Given the description of an element on the screen output the (x, y) to click on. 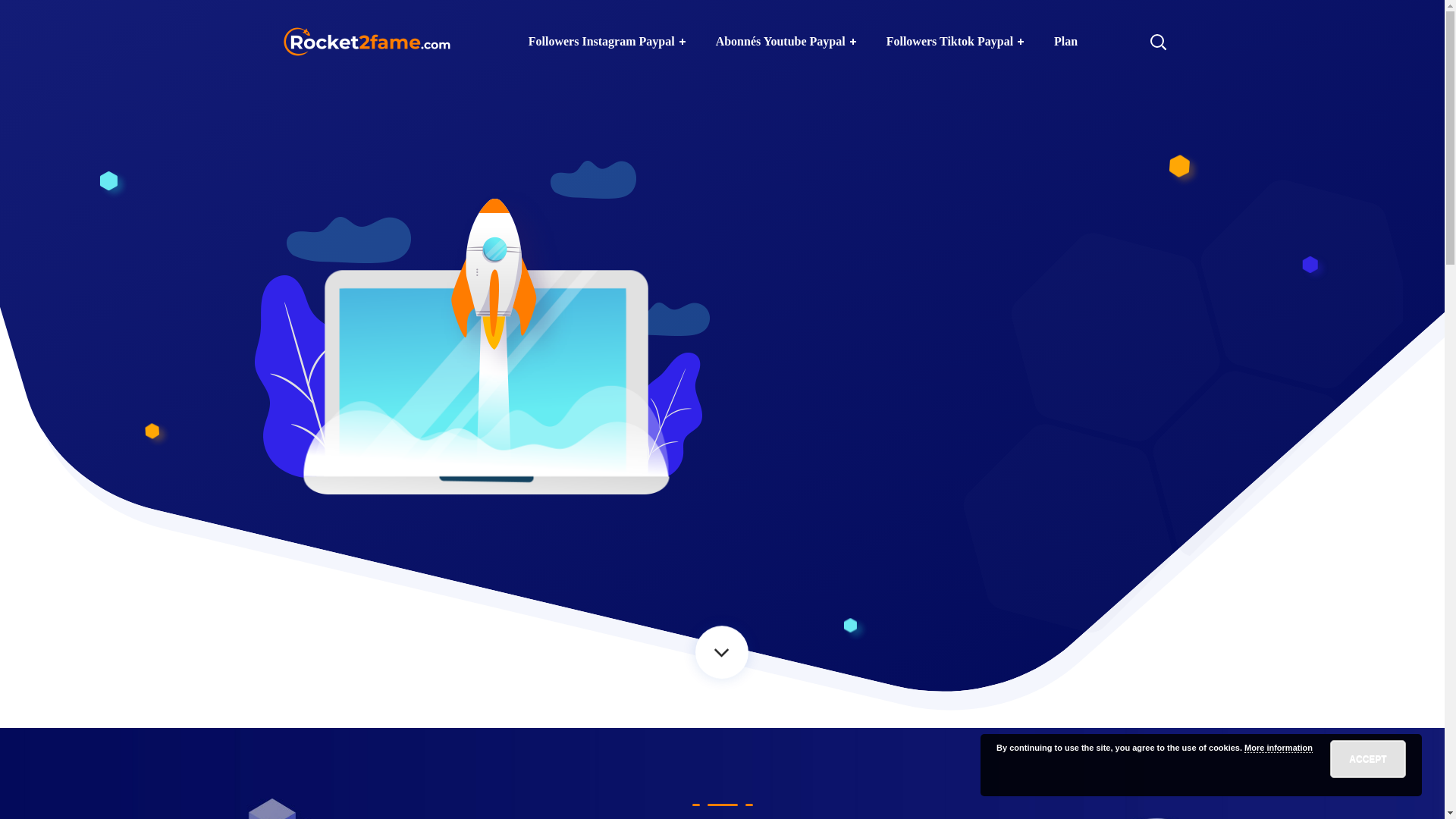
Search Element type: text (1110, 30)
ACCEPT Element type: text (1367, 759)
Plan Element type: text (1065, 41)
More information Element type: text (1278, 748)
Search Element type: text (1110, 113)
Followers Tiktok Paypal Element type: text (954, 41)
Followers Instagram Paypal Element type: text (606, 41)
